Given the description of an element on the screen output the (x, y) to click on. 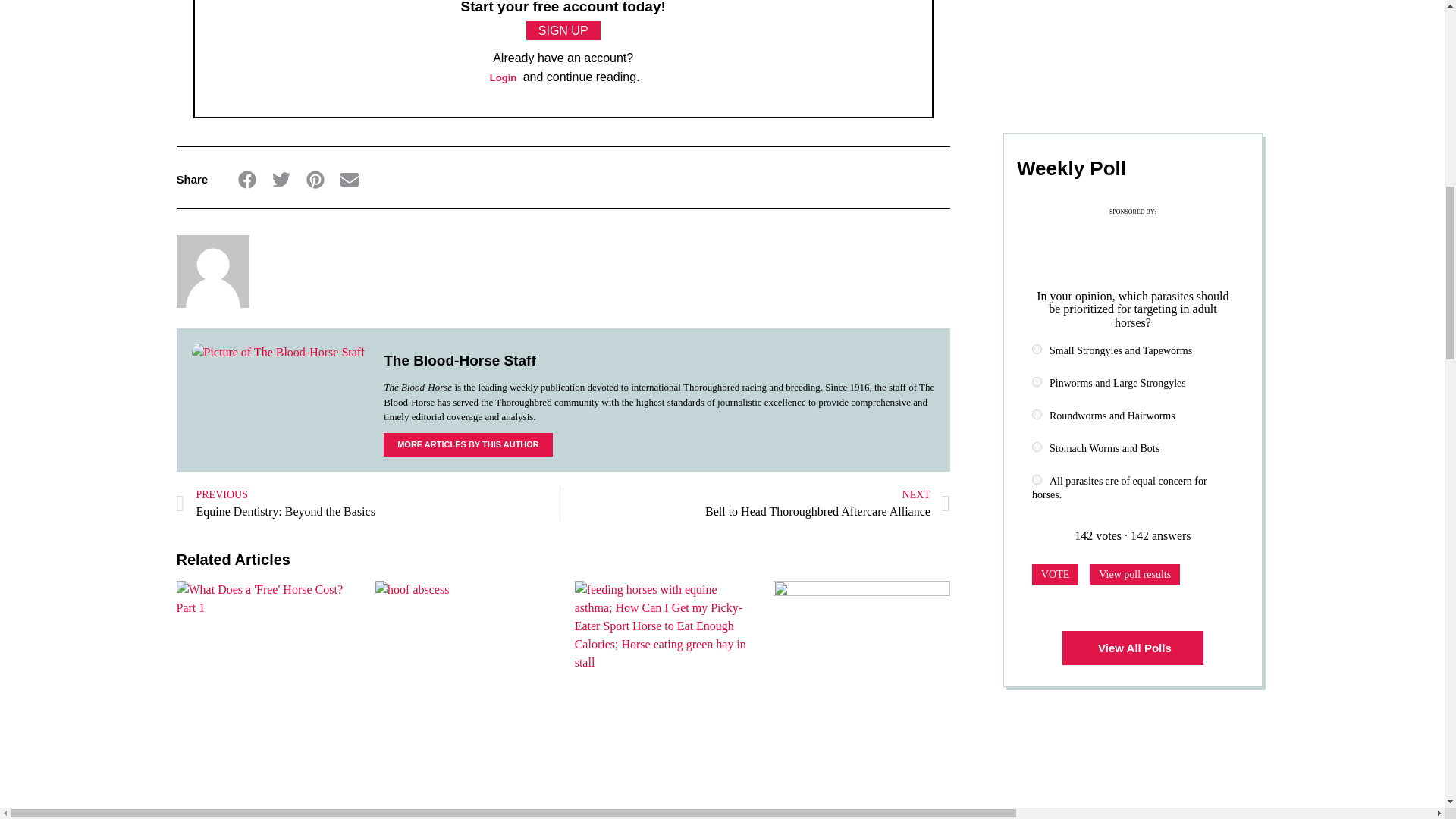
46261 (1037, 414)
46266 (1037, 479)
45994 (1037, 348)
46264 (1037, 447)
46121 (1037, 381)
